Given the description of an element on the screen output the (x, y) to click on. 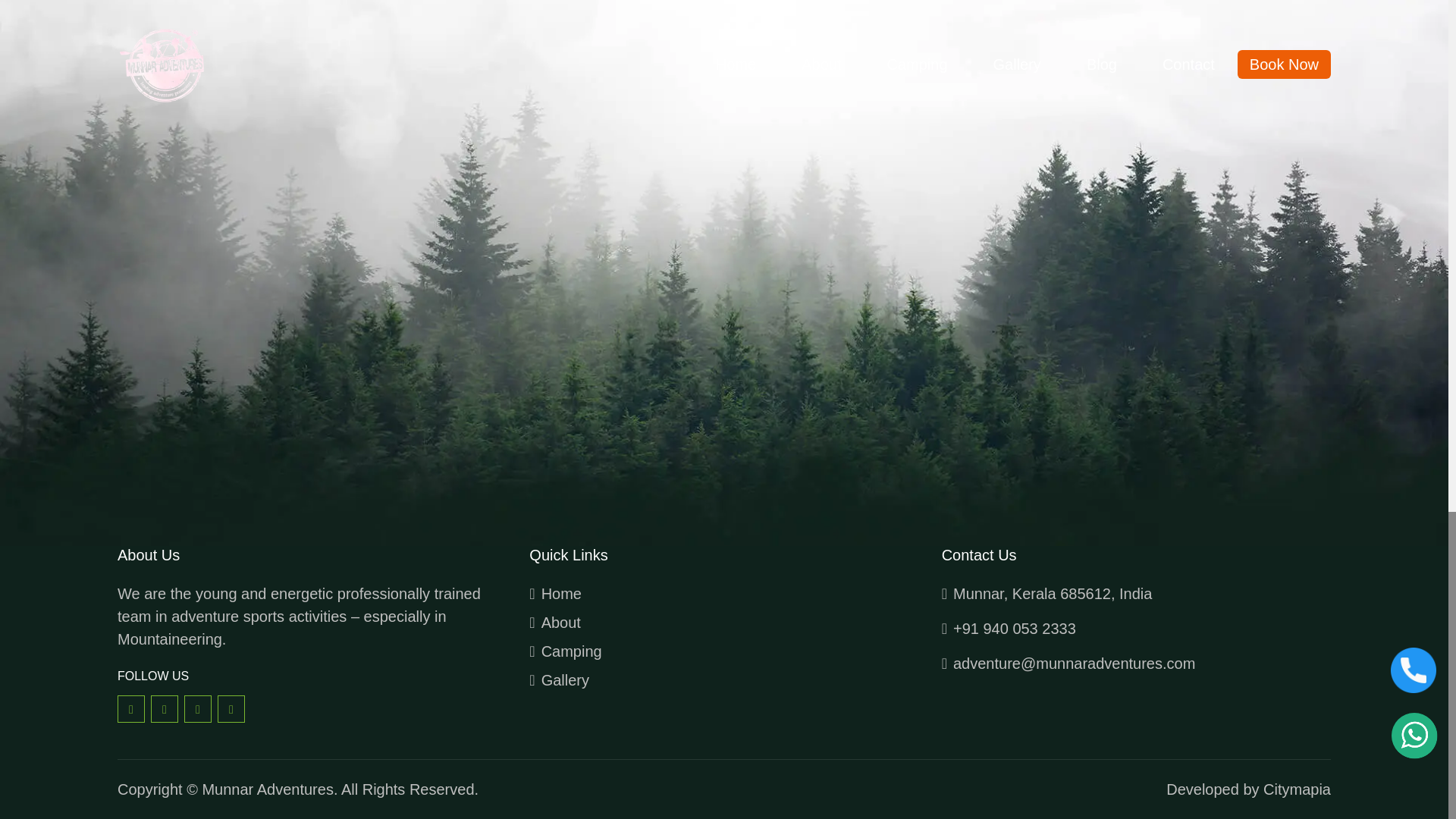
Camping (723, 650)
Munnar Adventures-Youtube (230, 708)
Home (723, 593)
About (723, 621)
Munnar Adventures-Instagram (197, 708)
Gallery (723, 680)
Citymapia (1296, 789)
Munnar Adventures (267, 789)
Munnar Adventures-Twitter (164, 708)
Munnar Adventures-Facebook (130, 708)
